Given the description of an element on the screen output the (x, y) to click on. 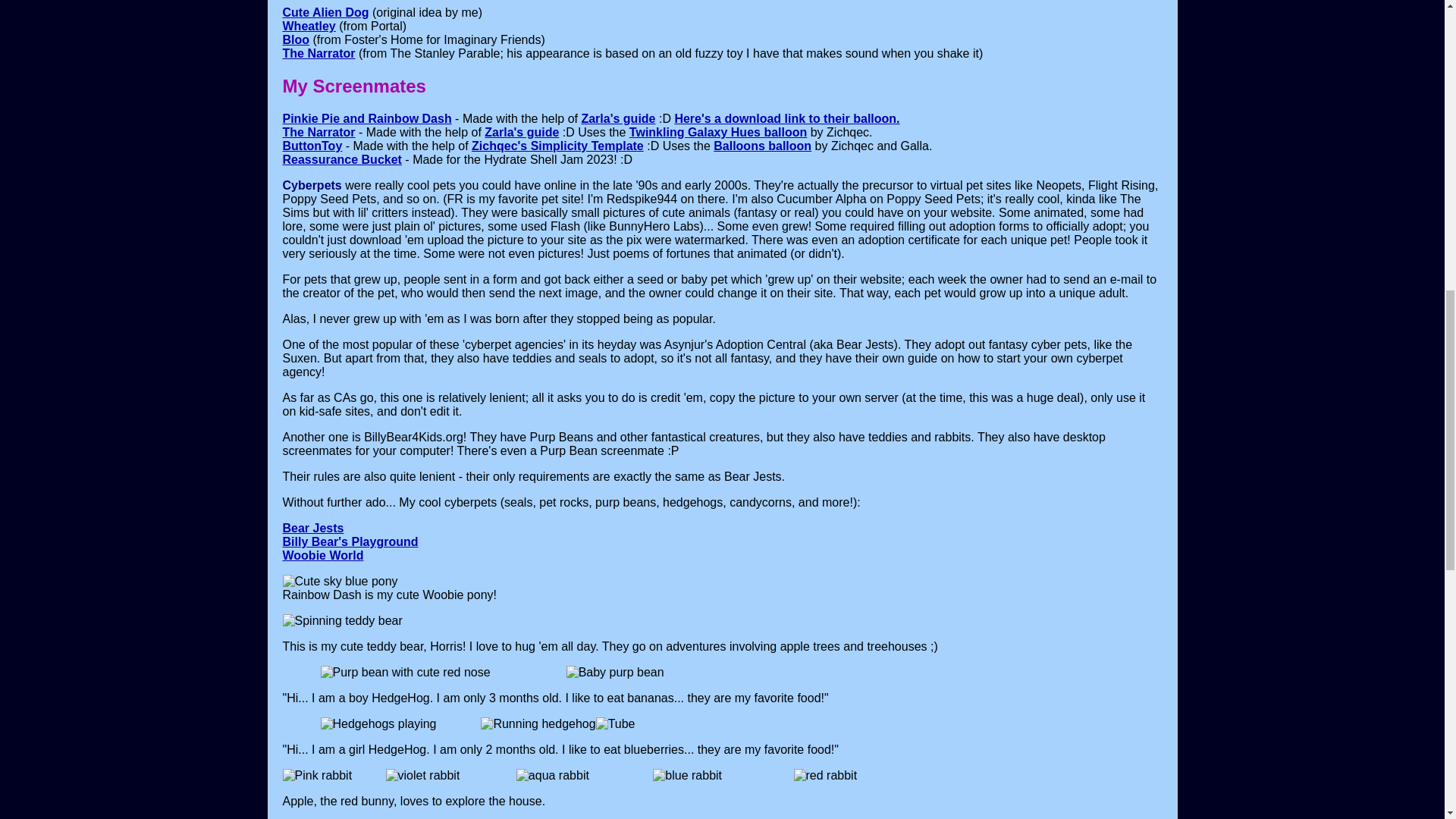
The Narrator (318, 52)
Bloo (295, 39)
Twinkling Galaxy Hues balloon (717, 132)
Zarla's guide (521, 132)
Wheatley (308, 25)
Here's a download link to their balloon. (786, 118)
Reassurance Bucket (341, 159)
Balloons balloon (761, 145)
Woobie World (322, 554)
Pinkie Pie and Rainbow Dash (366, 118)
ButtonToy (312, 145)
Bear Jests (312, 527)
Zarla's guide (617, 118)
Cute Alien Dog (325, 11)
The Narrator (318, 132)
